Given the description of an element on the screen output the (x, y) to click on. 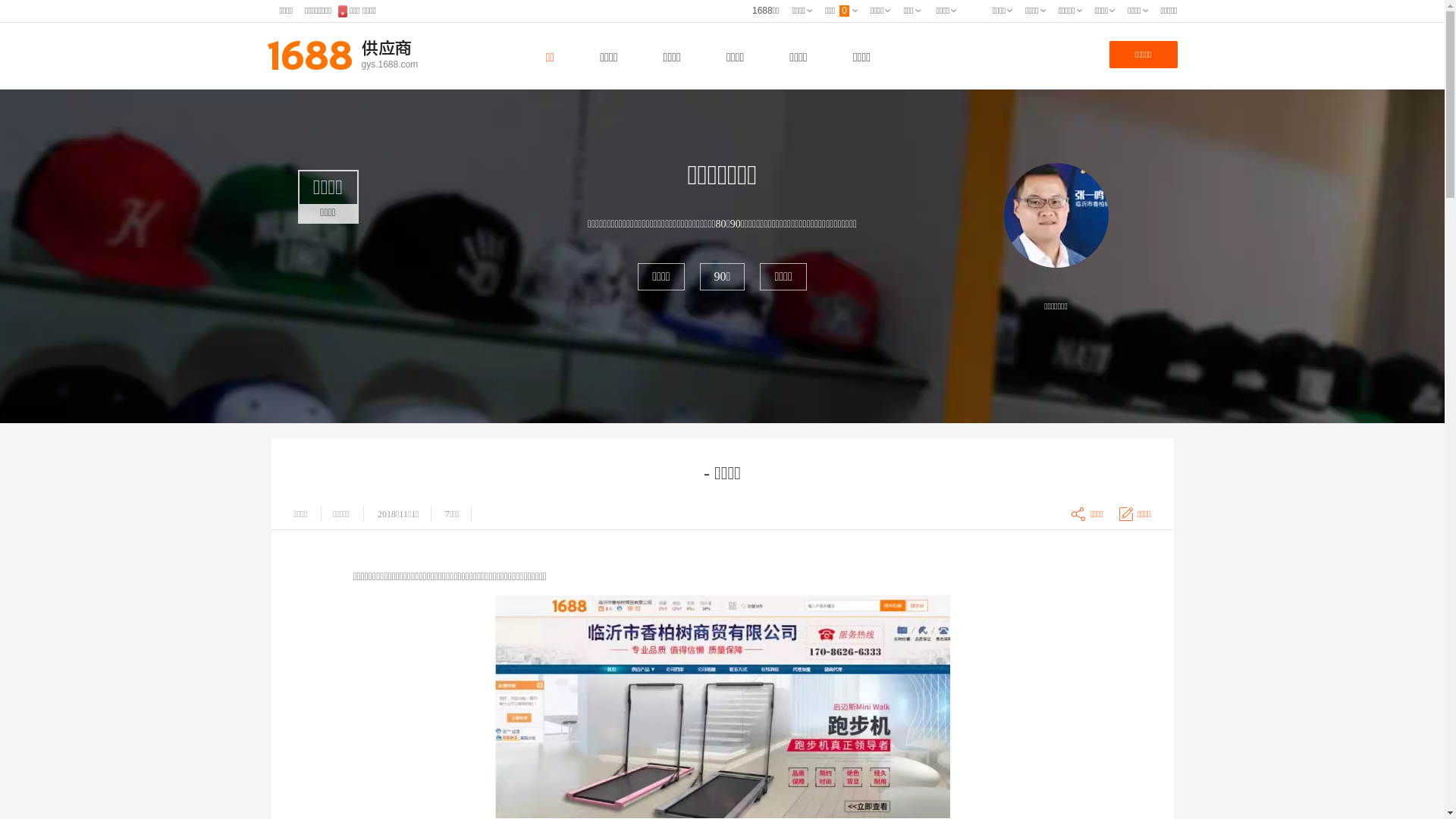
gys.1688.com Element type: text (452, 64)
